Given the description of an element on the screen output the (x, y) to click on. 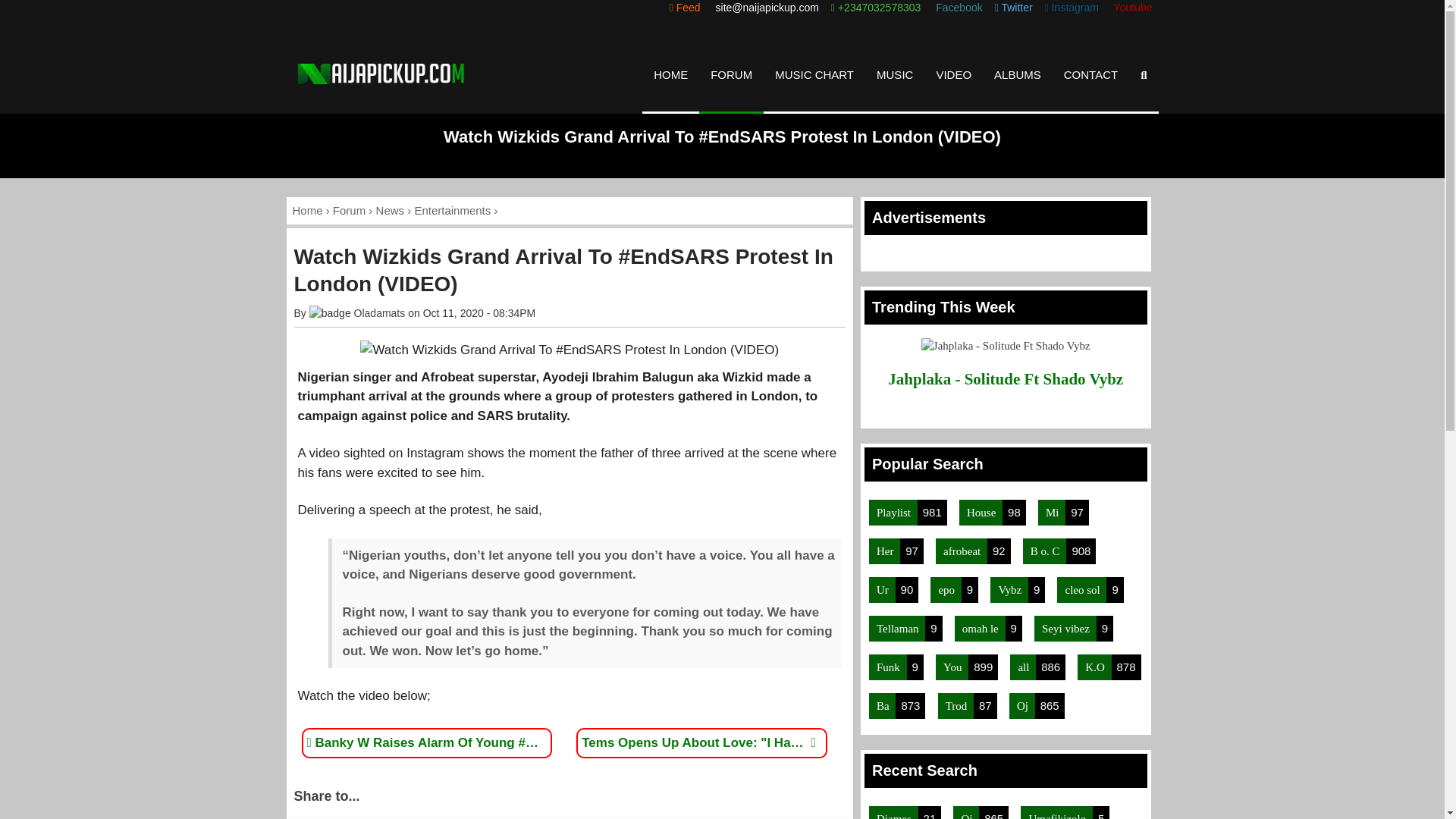
Contact Us (1090, 74)
Instagram (1072, 7)
HOME (670, 74)
News (389, 210)
Entertainments (451, 210)
Feed (684, 7)
Music (813, 74)
ALBUMS (1017, 74)
Home (307, 210)
Mi (1051, 512)
Facebook (957, 7)
MUSIC CHART (813, 74)
VIDEO (953, 74)
Oladamats (379, 313)
FORUM (730, 74)
